Given the description of an element on the screen output the (x, y) to click on. 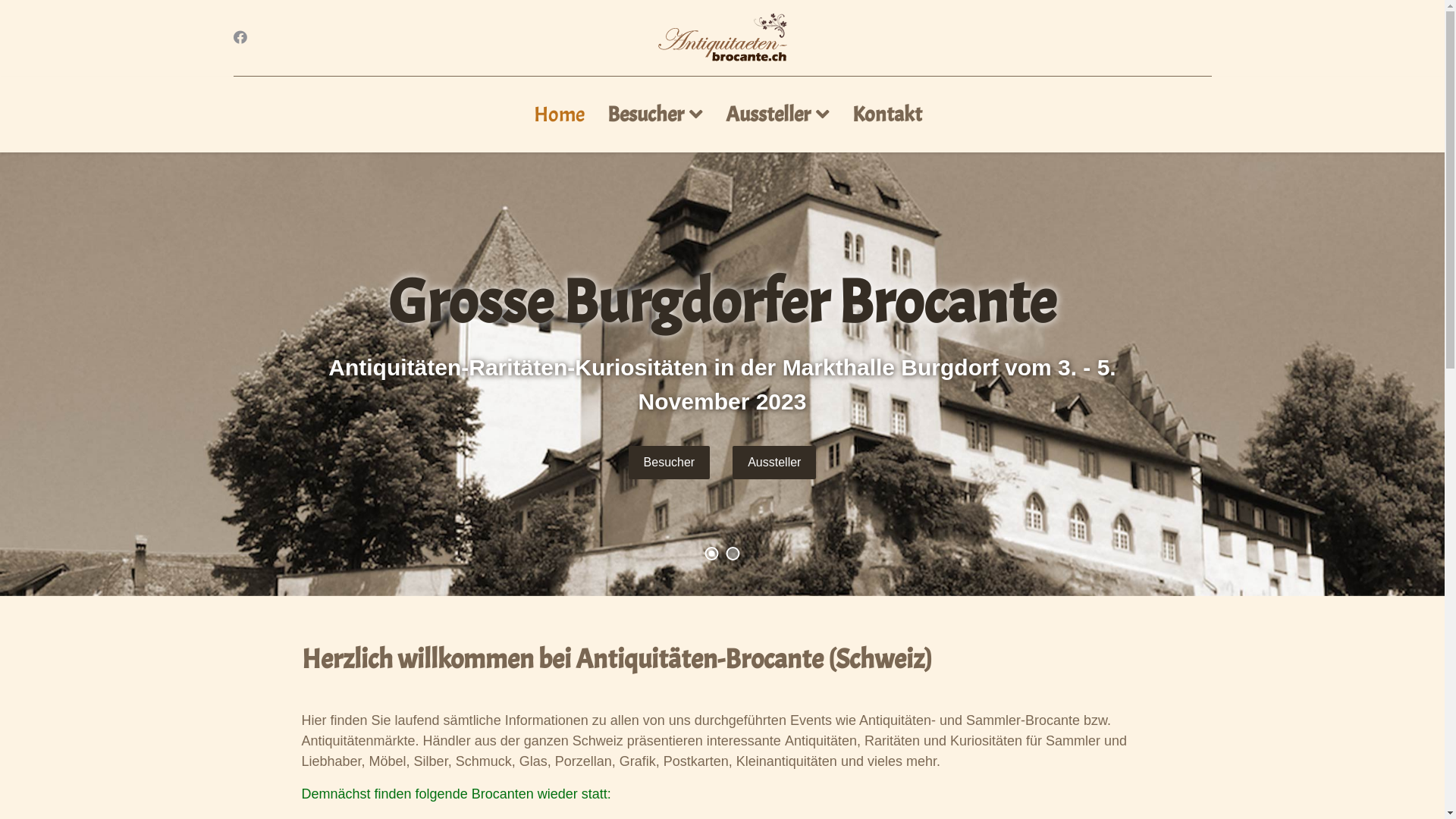
Besucher Element type: text (669, 462)
Aussteller Element type: text (777, 114)
Aussteller Element type: text (773, 462)
Besucher Element type: text (655, 114)
Home Element type: text (559, 114)
Kontakt Element type: text (881, 114)
